Given the description of an element on the screen output the (x, y) to click on. 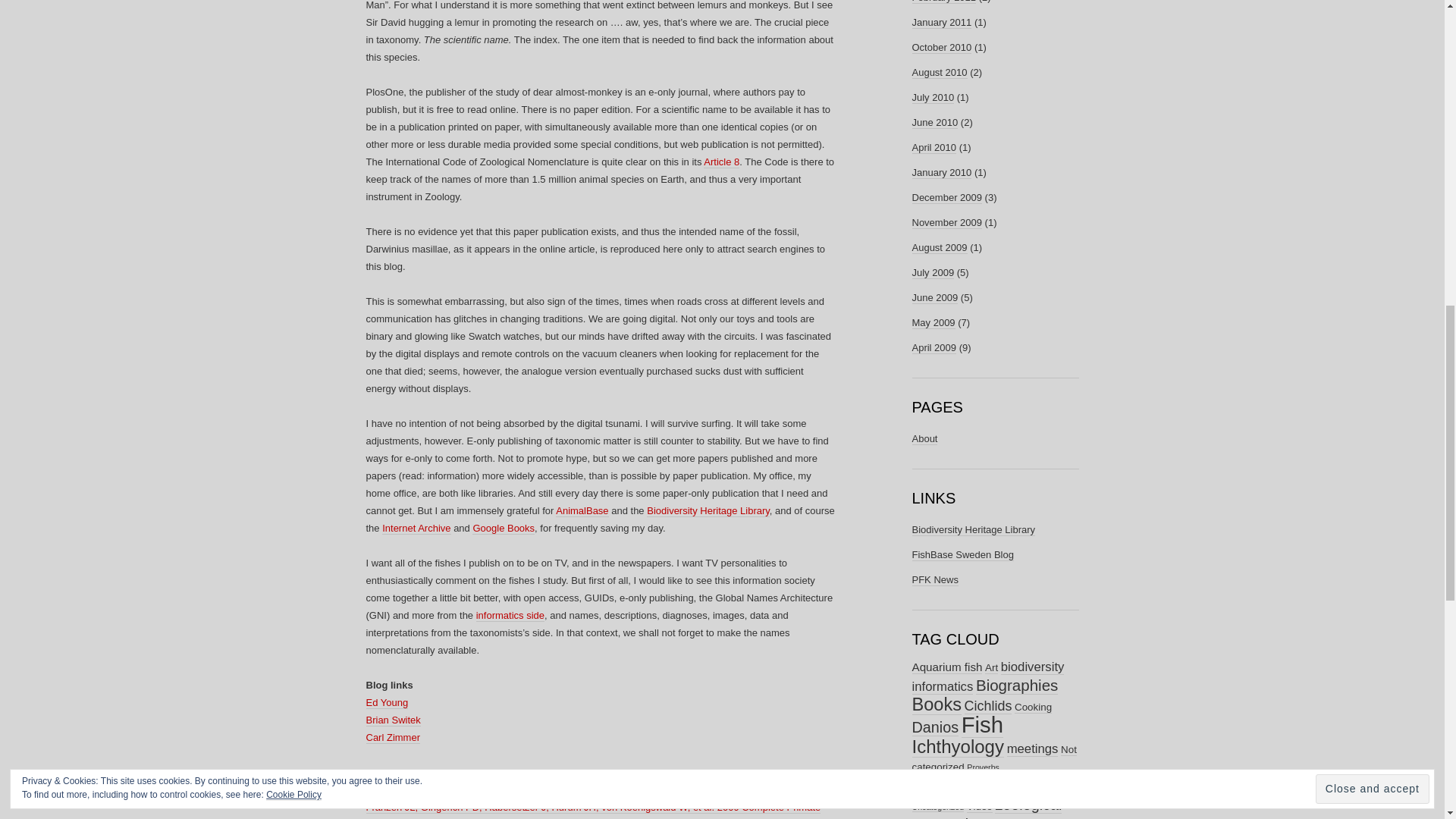
Article 8 (721, 162)
Practical FishKeeping News (934, 580)
Brian Switek (392, 720)
July 2010 (932, 97)
October 2010 (941, 47)
February 2011 (943, 2)
Swedish FishBase Team writing in Swedish! (962, 554)
AnimalBase (582, 510)
June 2010 (934, 122)
informatics side (510, 615)
Google Books (502, 528)
Carl Zimmer (392, 737)
Biodiversity Heritage Library (708, 510)
Ed Young (386, 702)
August 2010 (938, 72)
